Given the description of an element on the screen output the (x, y) to click on. 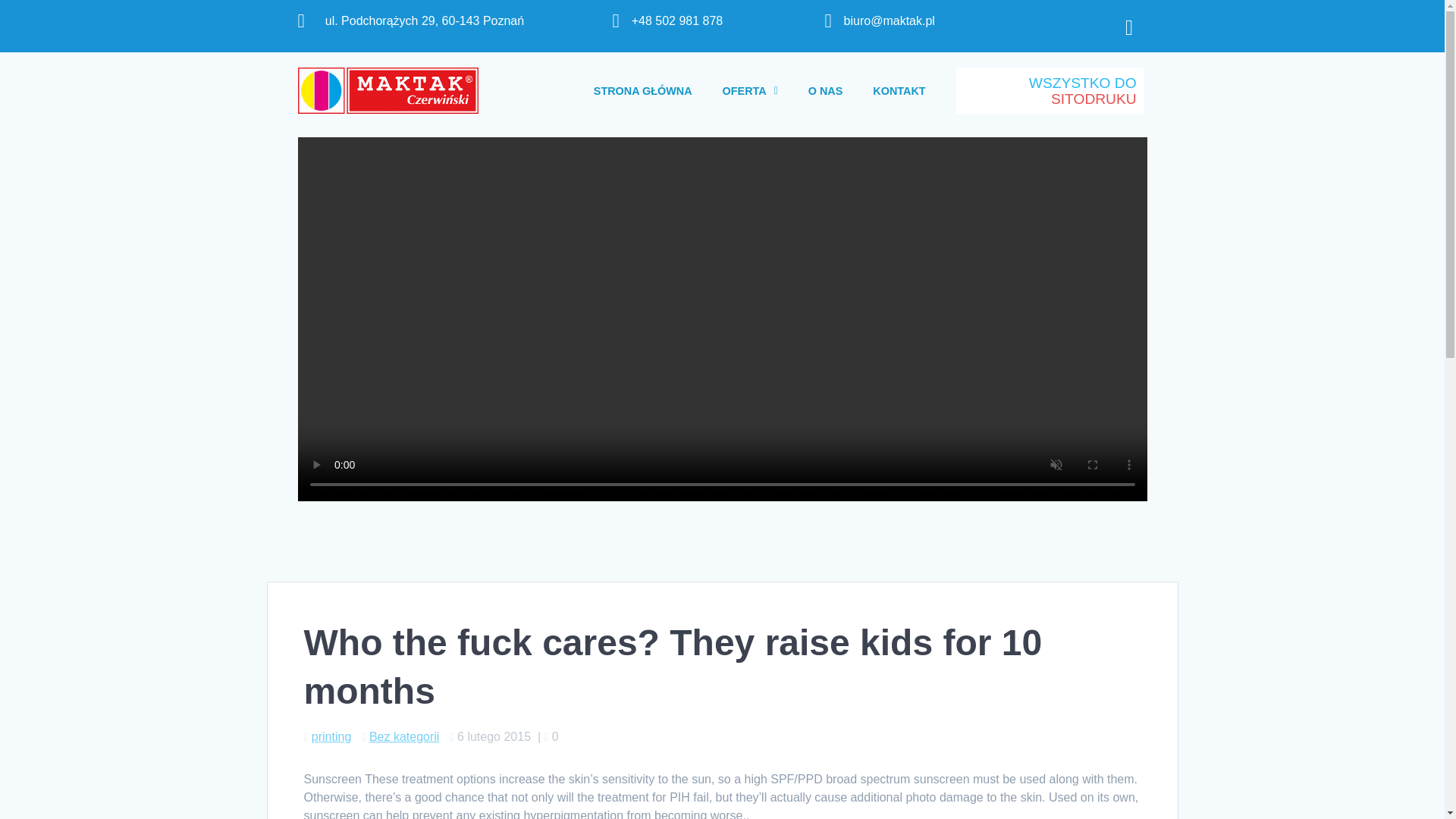
O NAS (826, 90)
OFERTA (750, 90)
KONTAKT (898, 90)
printing (330, 736)
Bez kategorii (404, 736)
Wpisy od printing (330, 736)
